Given the description of an element on the screen output the (x, y) to click on. 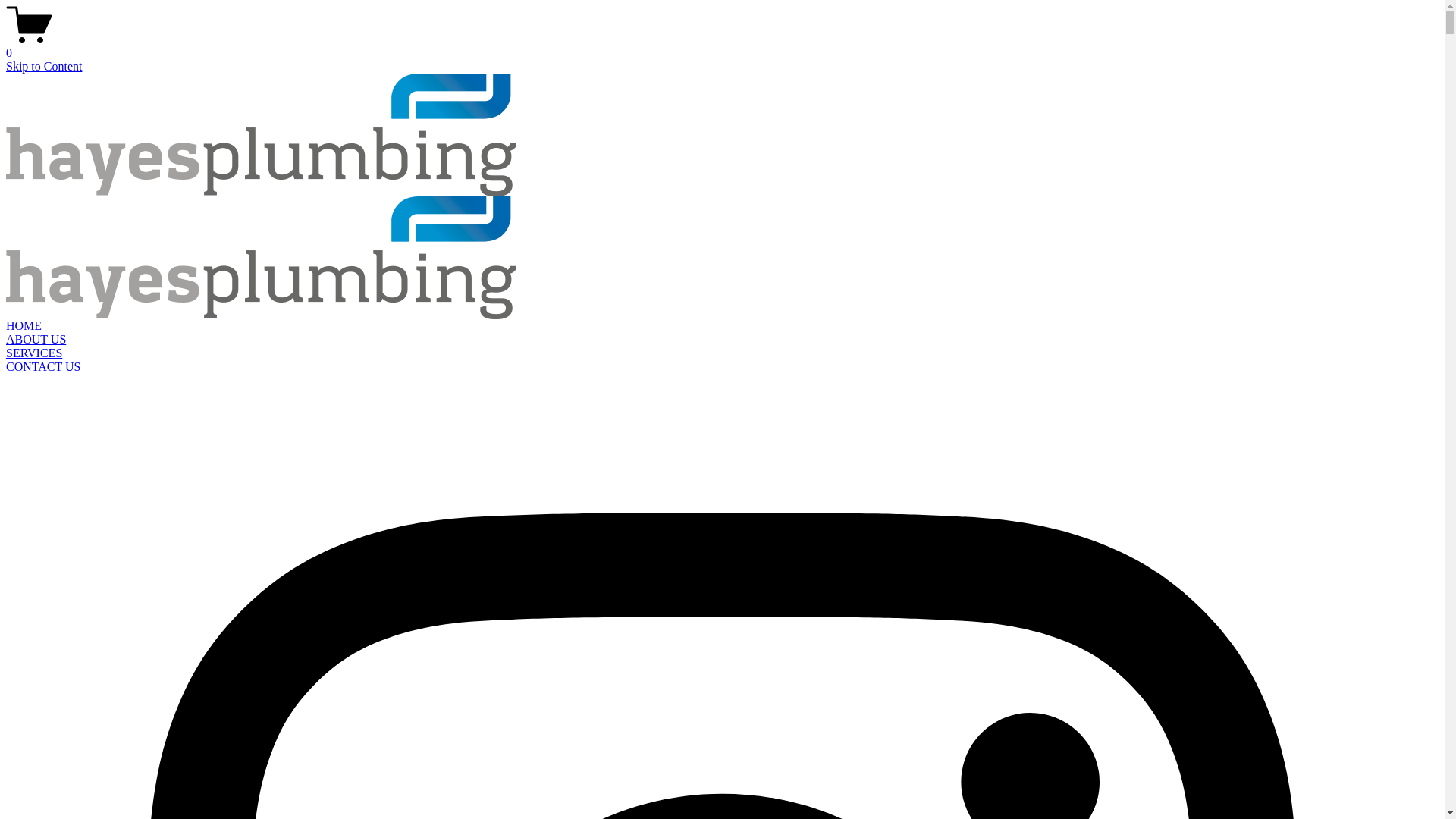
0 Element type: text (722, 45)
SERVICES Element type: text (34, 352)
Skip to Content Element type: text (43, 65)
CONTACT US Element type: text (43, 366)
HOME Element type: text (23, 325)
ABOUT US Element type: text (35, 338)
